Given the description of an element on the screen output the (x, y) to click on. 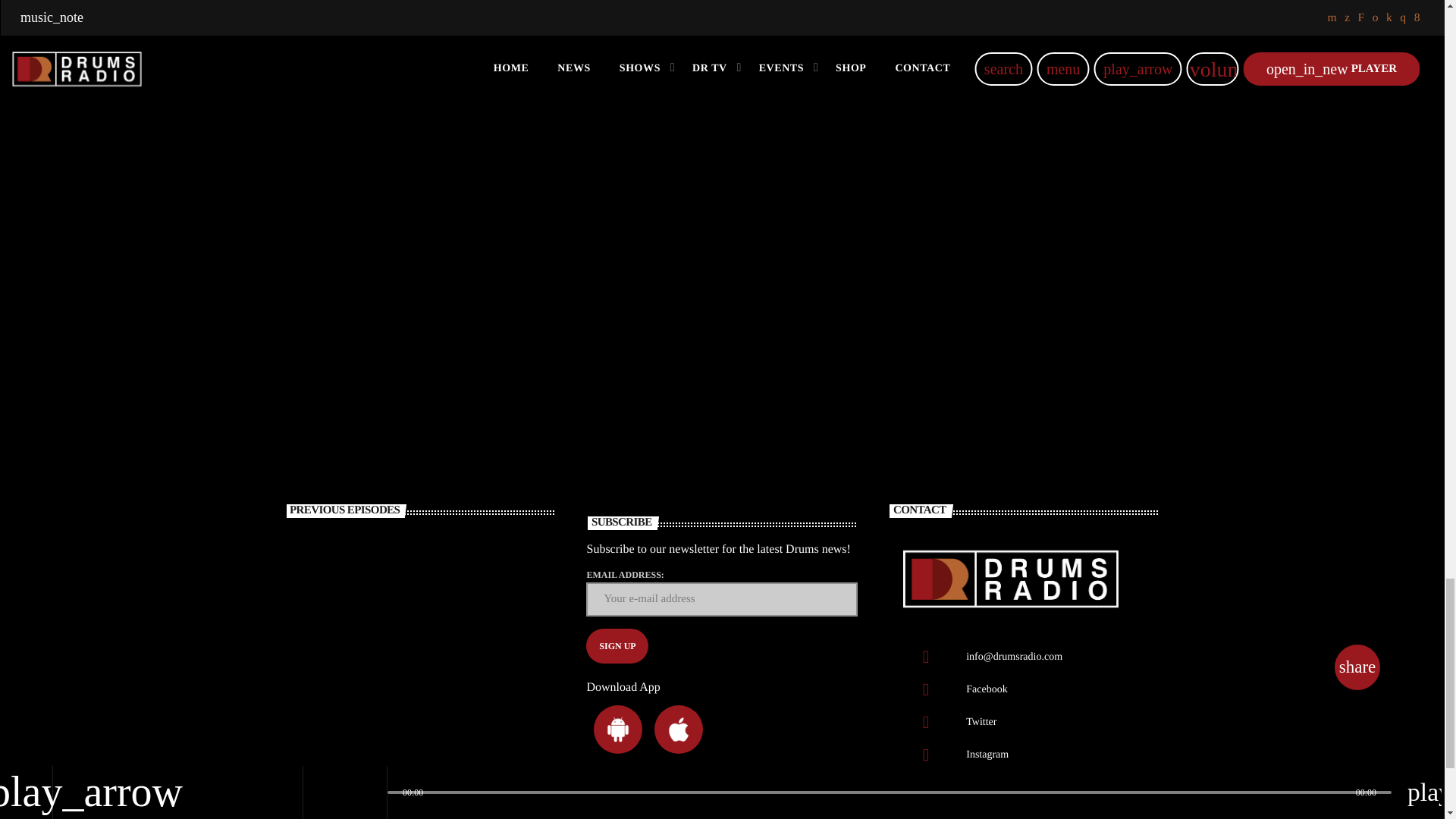
Sign up (616, 645)
